Given the description of an element on the screen output the (x, y) to click on. 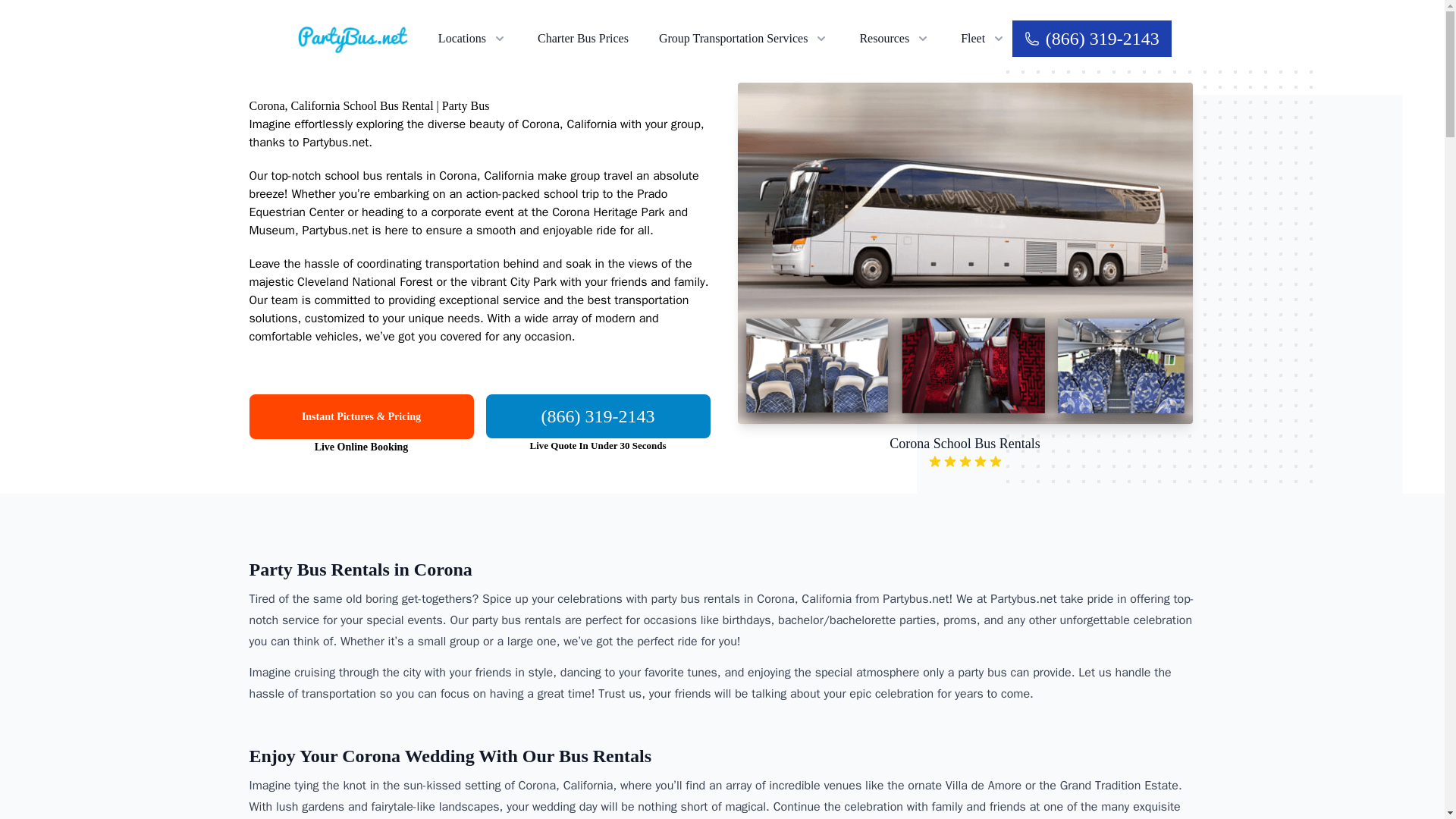
Locations (472, 38)
Charter Bus Prices (582, 38)
Bus Charter Logo (352, 38)
